Given the description of an element on the screen output the (x, y) to click on. 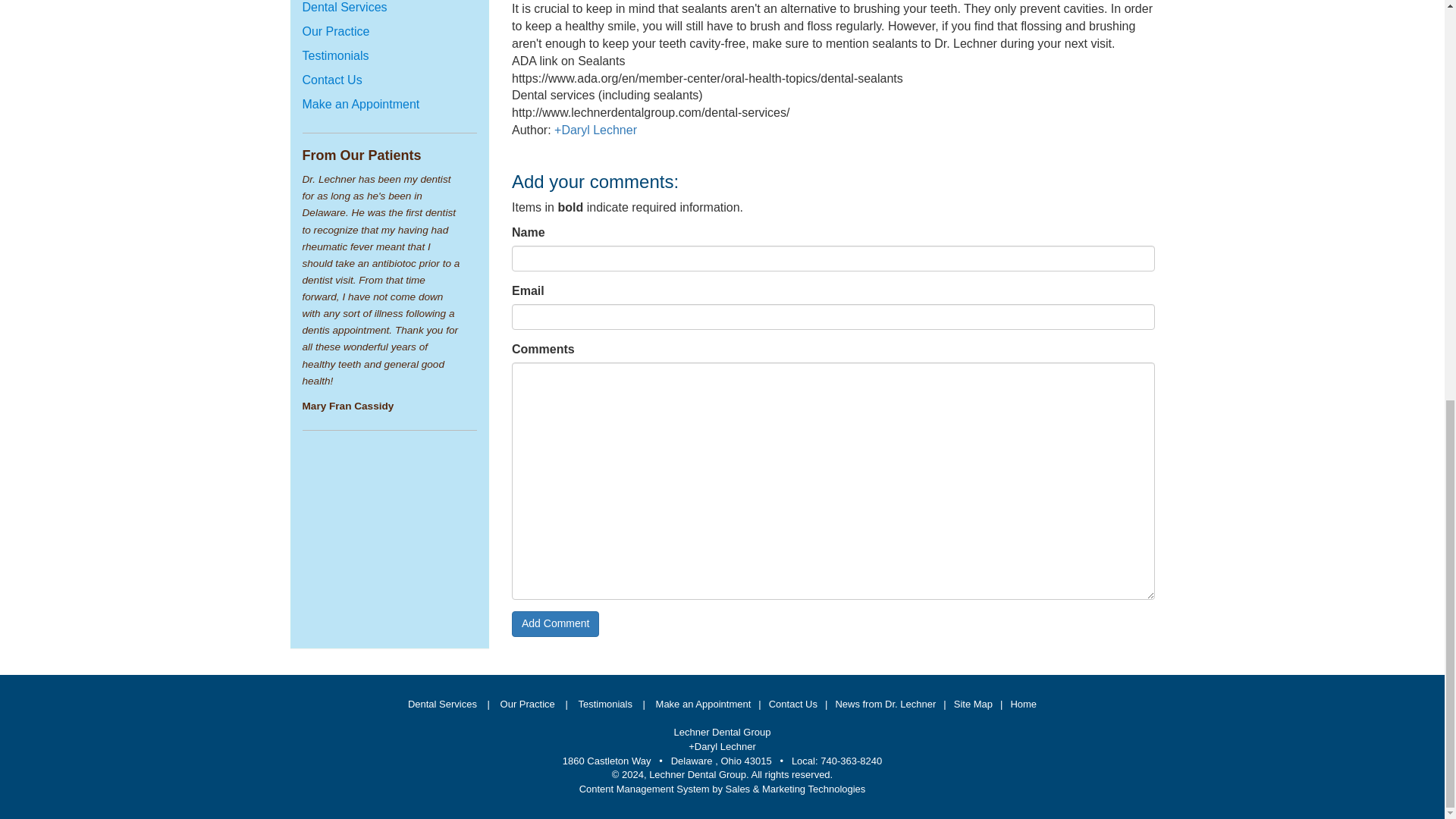
Testimonials (334, 55)
Our Practice (527, 704)
Add Comment (555, 623)
Contact Us (331, 79)
Make an Appointment (360, 103)
Testimonials (605, 704)
Add Comment (555, 623)
Our Practice (335, 31)
Dental Services (442, 704)
Dental Services (344, 6)
